Given the description of an element on the screen output the (x, y) to click on. 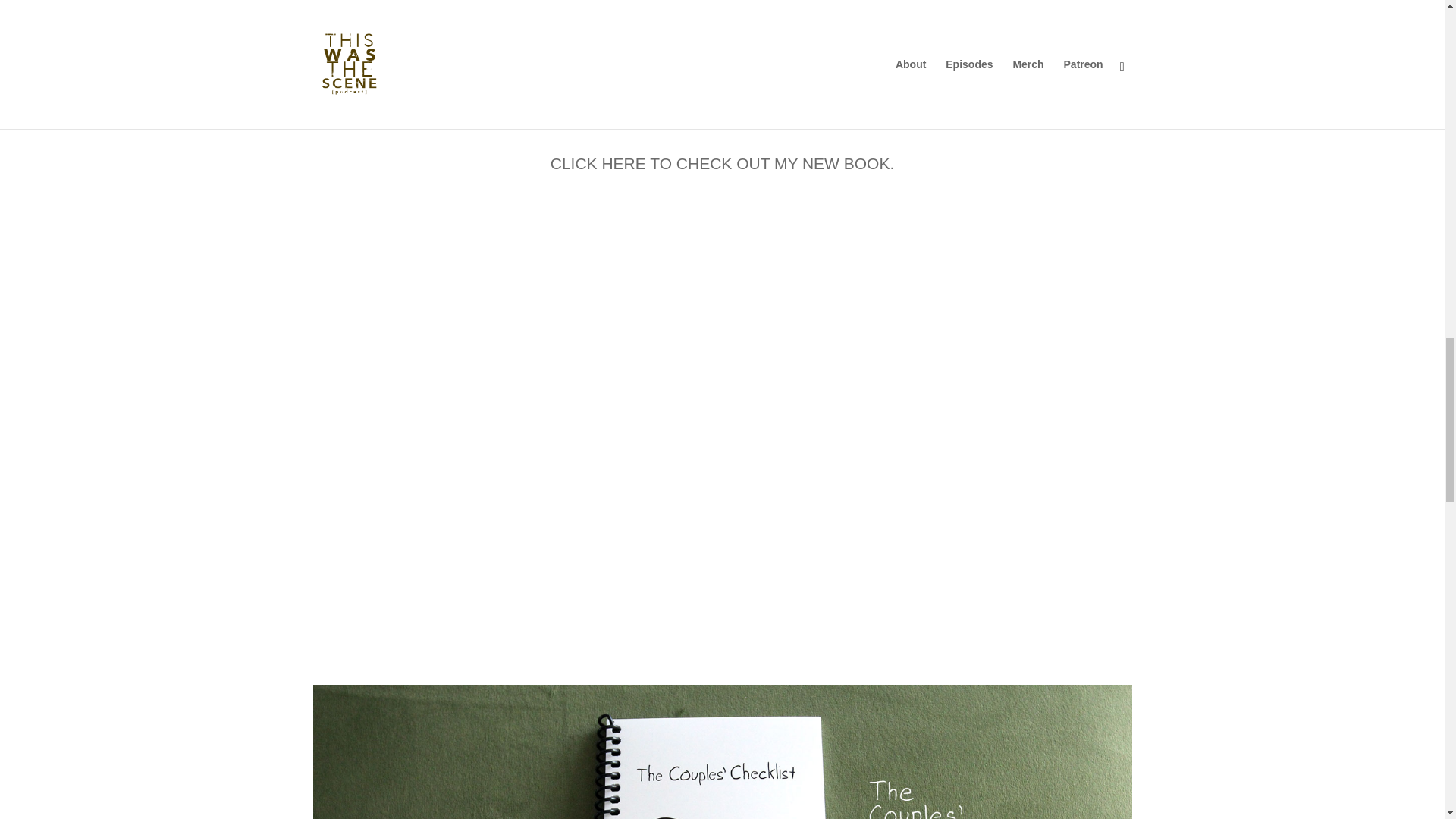
checklist-fb-header (722, 751)
